Given the description of an element on the screen output the (x, y) to click on. 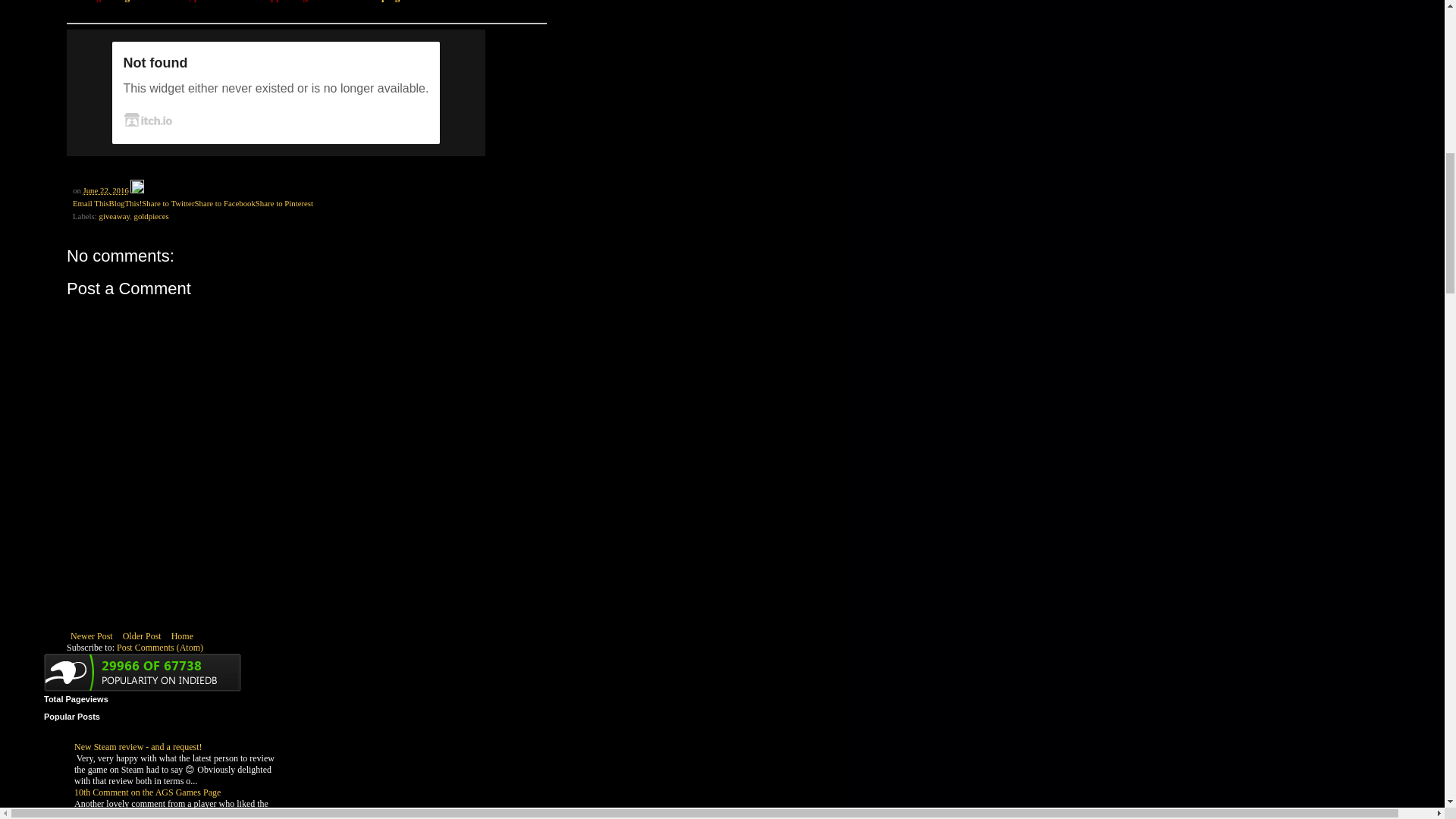
Older Post (142, 636)
BlogThis! (124, 203)
Share to Twitter (167, 203)
indiegamenews.com (146, 1)
Home (181, 636)
Share to Pinterest (284, 203)
goldpieces (150, 215)
BlogThis! (124, 203)
Patreon campaign (366, 1)
Older Post (142, 636)
Share to Facebook (223, 203)
Share to Pinterest (284, 203)
Email This (89, 203)
June 22, 2016 (105, 189)
